Given the description of an element on the screen output the (x, y) to click on. 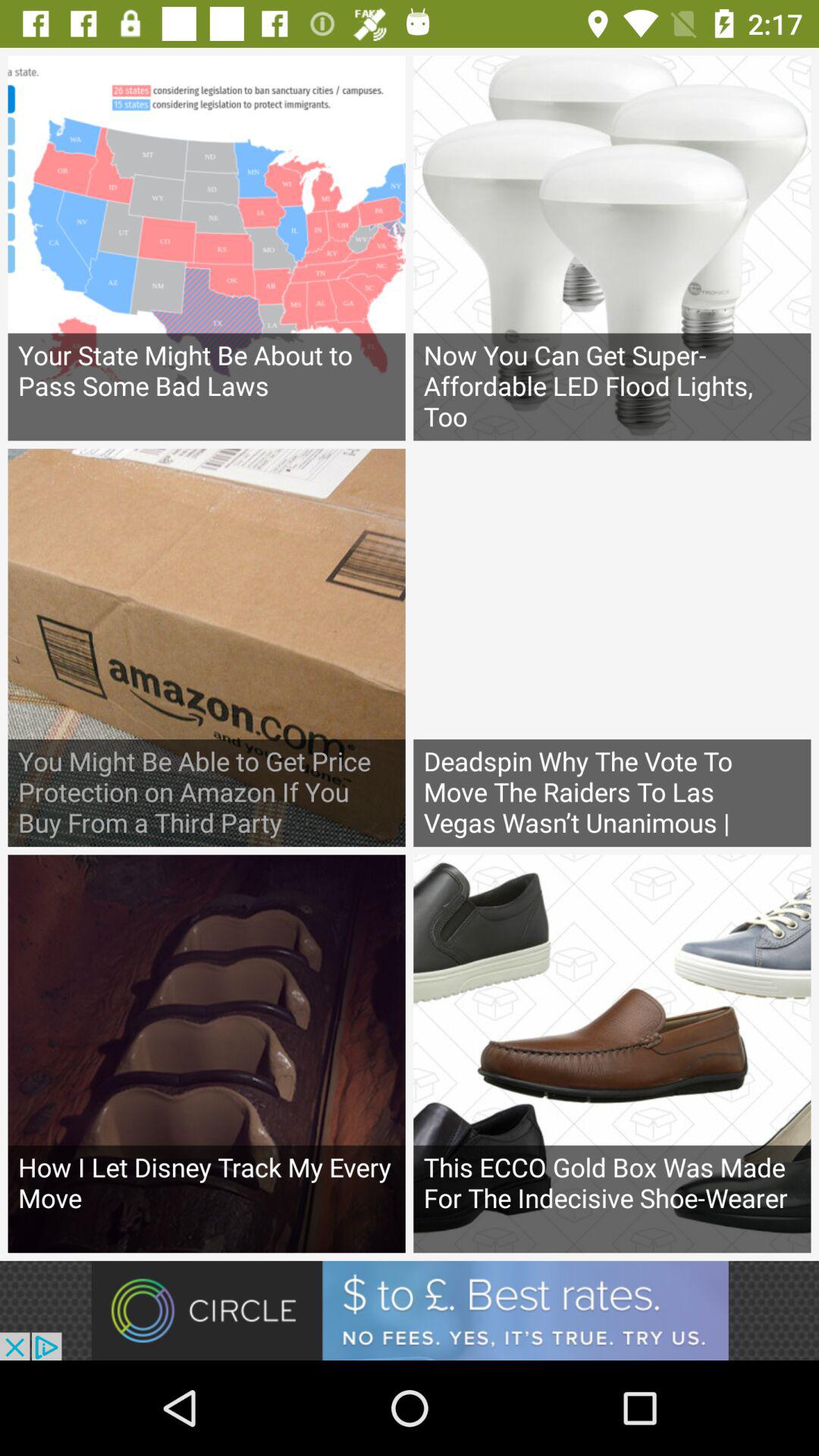
select the second image which is in the third row (612, 1053)
click on the second image which has bulbs (612, 244)
click on the second image in the second row (612, 647)
